Given the description of an element on the screen output the (x, y) to click on. 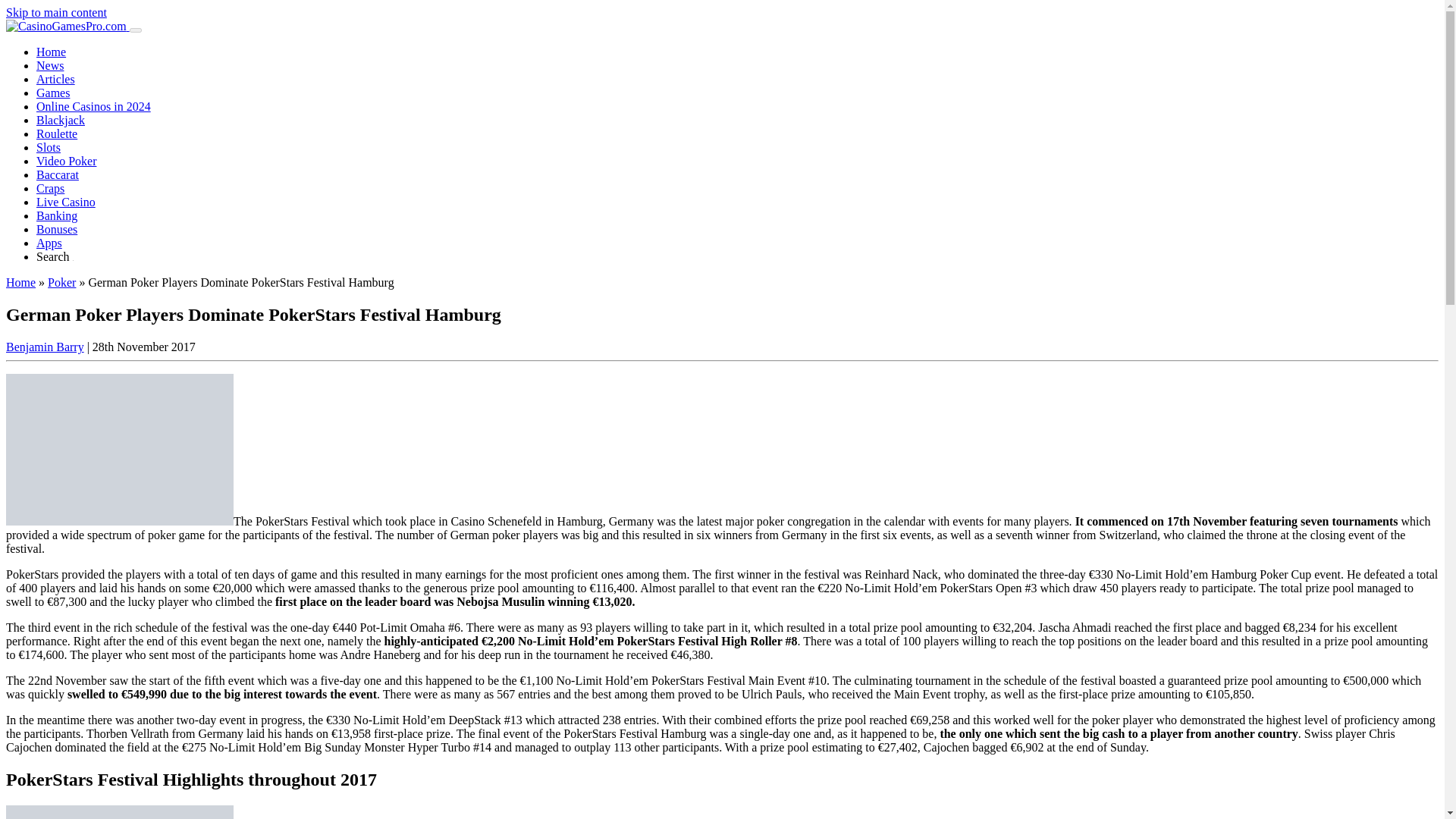
News (50, 65)
Live Casino (66, 201)
Blackjack (60, 119)
Home (50, 51)
Articles (55, 78)
Apps (49, 242)
Online Casinos in 2024 (93, 106)
Blackjack (60, 119)
Roulette (56, 133)
Skip to main content (55, 11)
Slots (48, 146)
Poker (61, 282)
Slots (48, 146)
News (50, 65)
Games (52, 92)
